Given the description of an element on the screen output the (x, y) to click on. 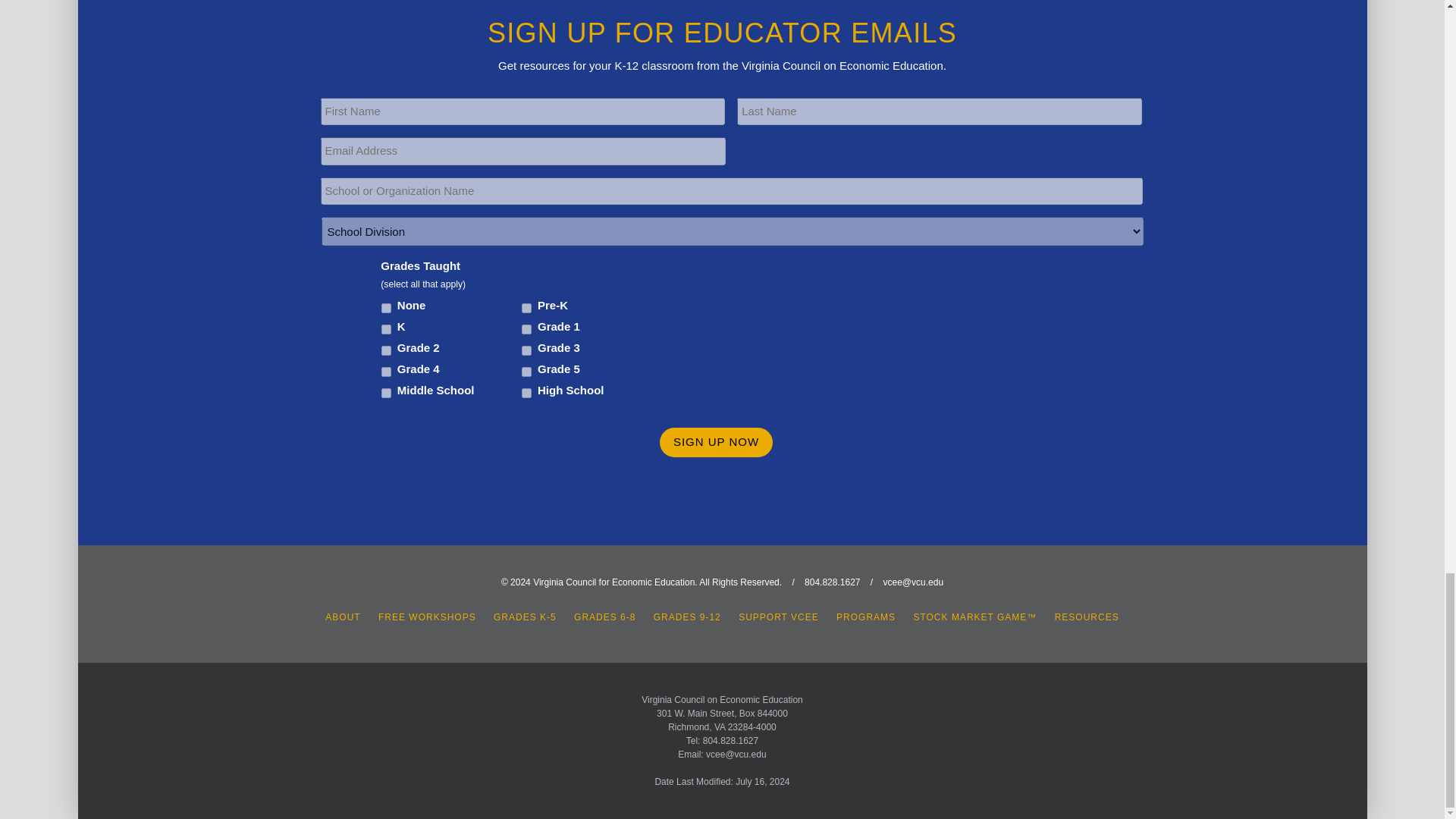
None (386, 307)
Pre-K (526, 307)
Grade 4 (386, 371)
High School (526, 393)
Grade 5 (526, 371)
Grade 1 (526, 329)
K (386, 329)
Grade 3 (526, 350)
Grade 2 (386, 350)
Middle School (386, 393)
Sign Up Now (716, 442)
